Given the description of an element on the screen output the (x, y) to click on. 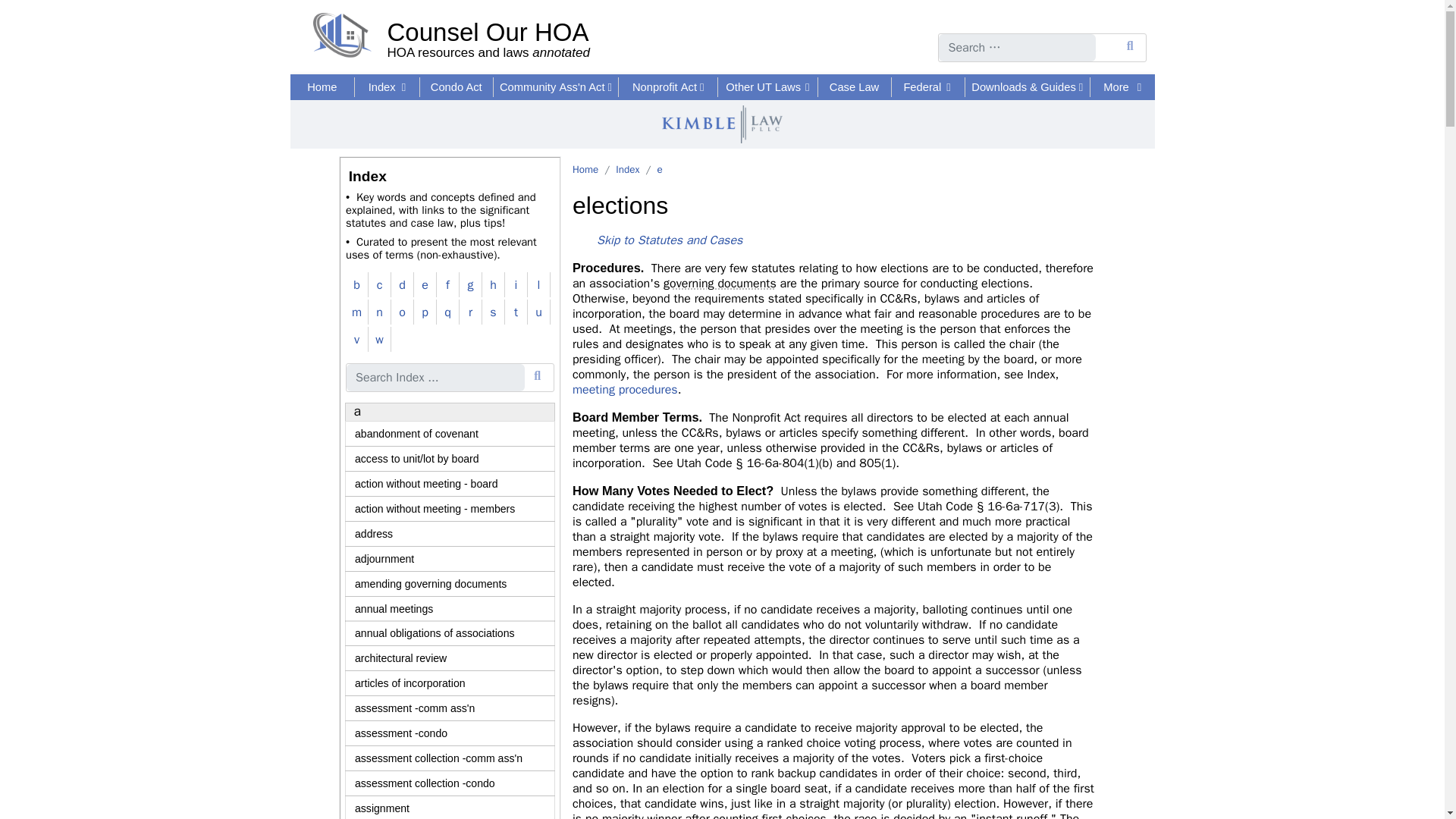
Index   (387, 86)
  Home   (488, 26)
Home (321, 86)
kimble-law.com (488, 26)
